Given the description of an element on the screen output the (x, y) to click on. 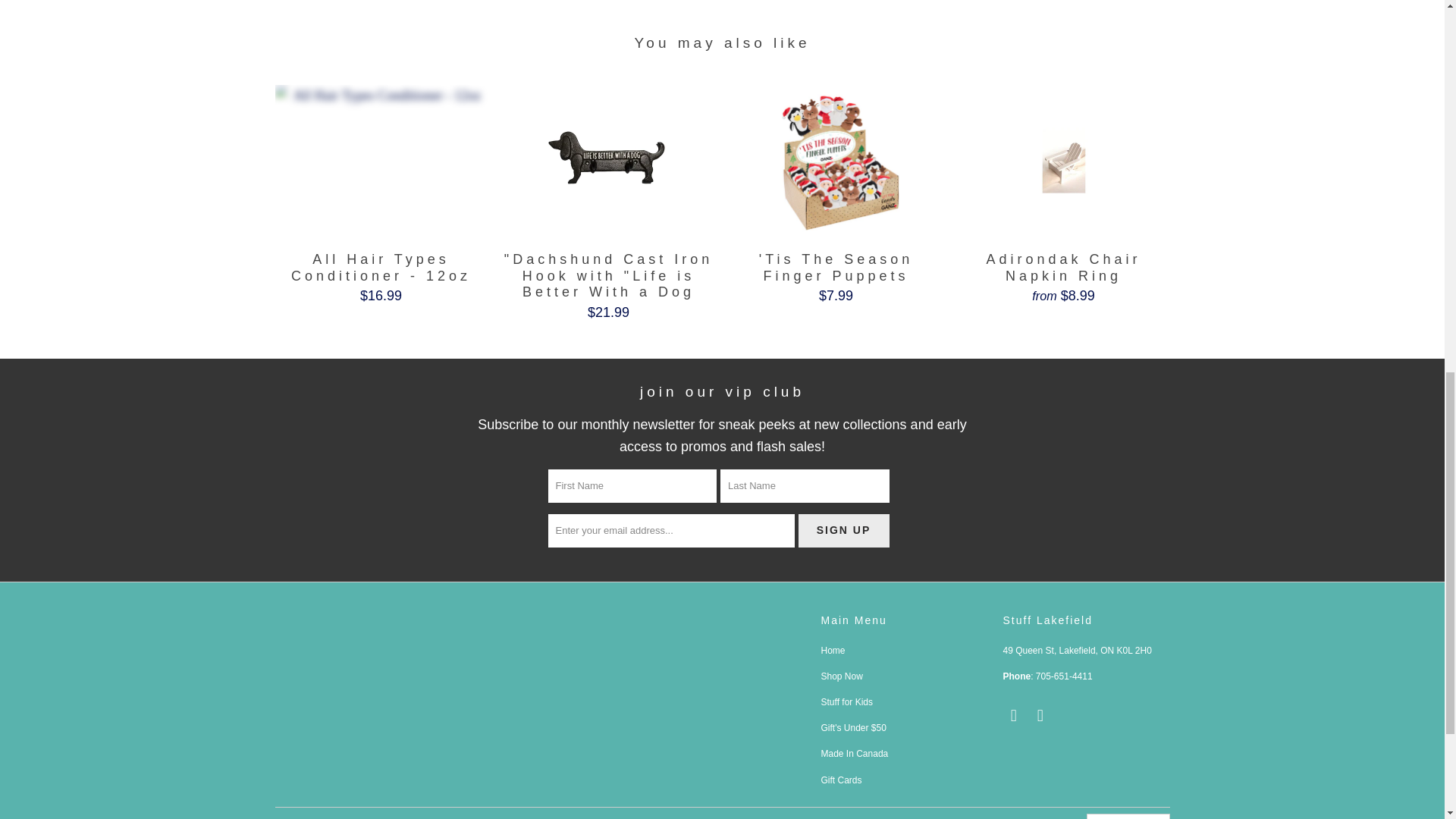
Stuff Lakefield on Facebook (1014, 715)
Sign Up (842, 530)
Stuff Lakefield on Instagram (1040, 715)
